Given the description of an element on the screen output the (x, y) to click on. 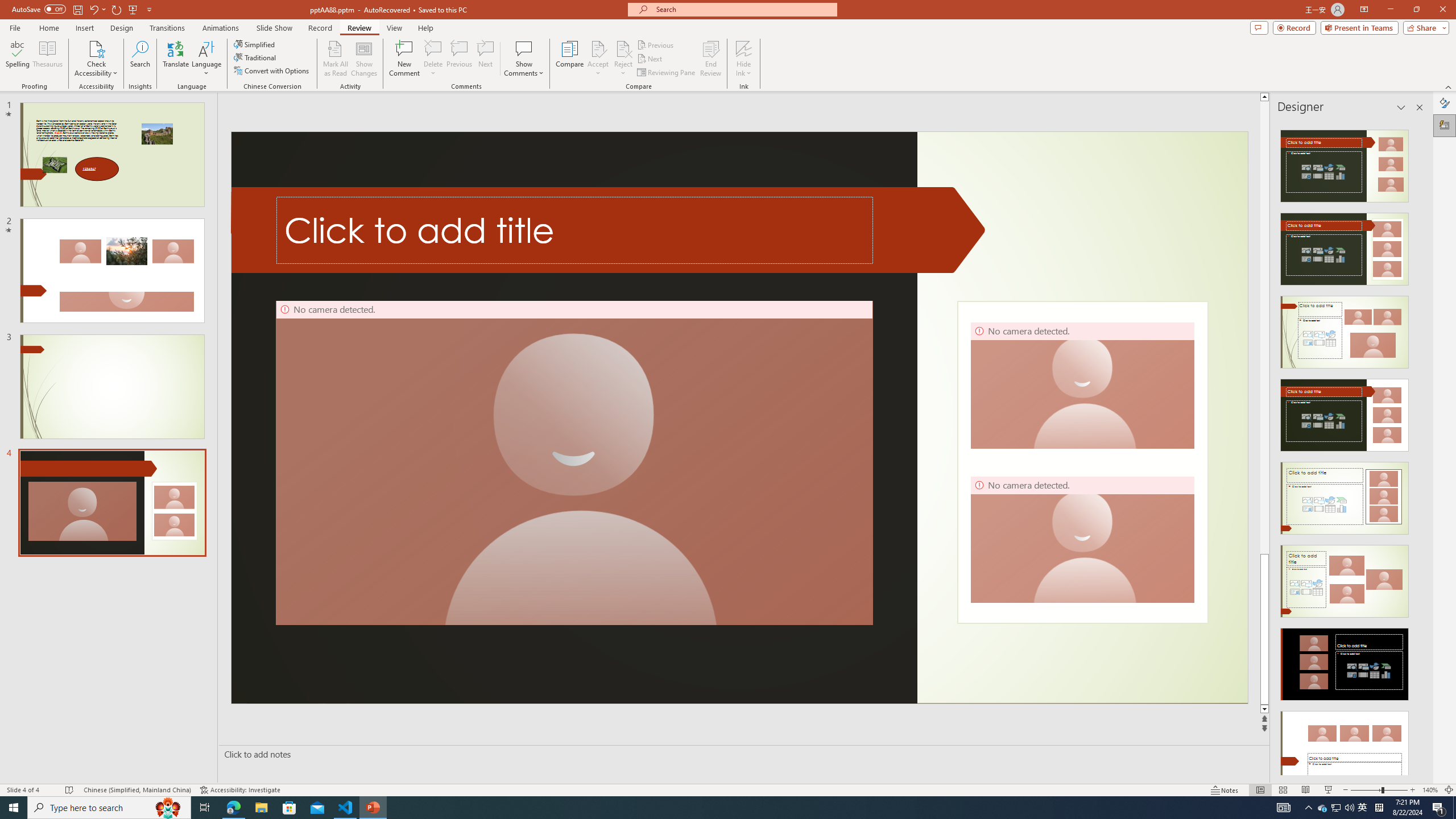
New Comment (403, 58)
Simplified (254, 44)
Mark All as Read (335, 58)
